Given the description of an element on the screen output the (x, y) to click on. 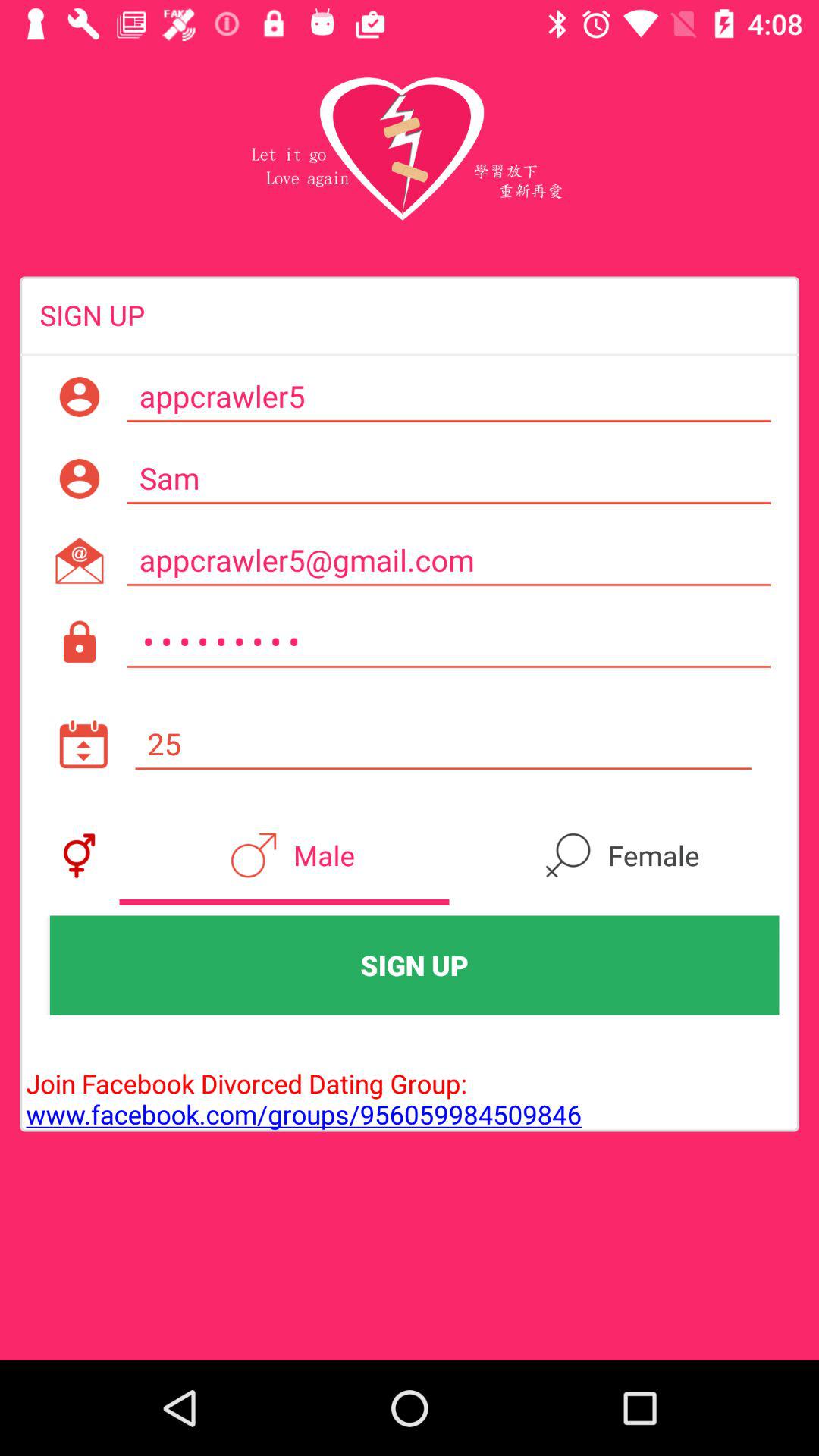
click the 25 icon (443, 744)
